Given the description of an element on the screen output the (x, y) to click on. 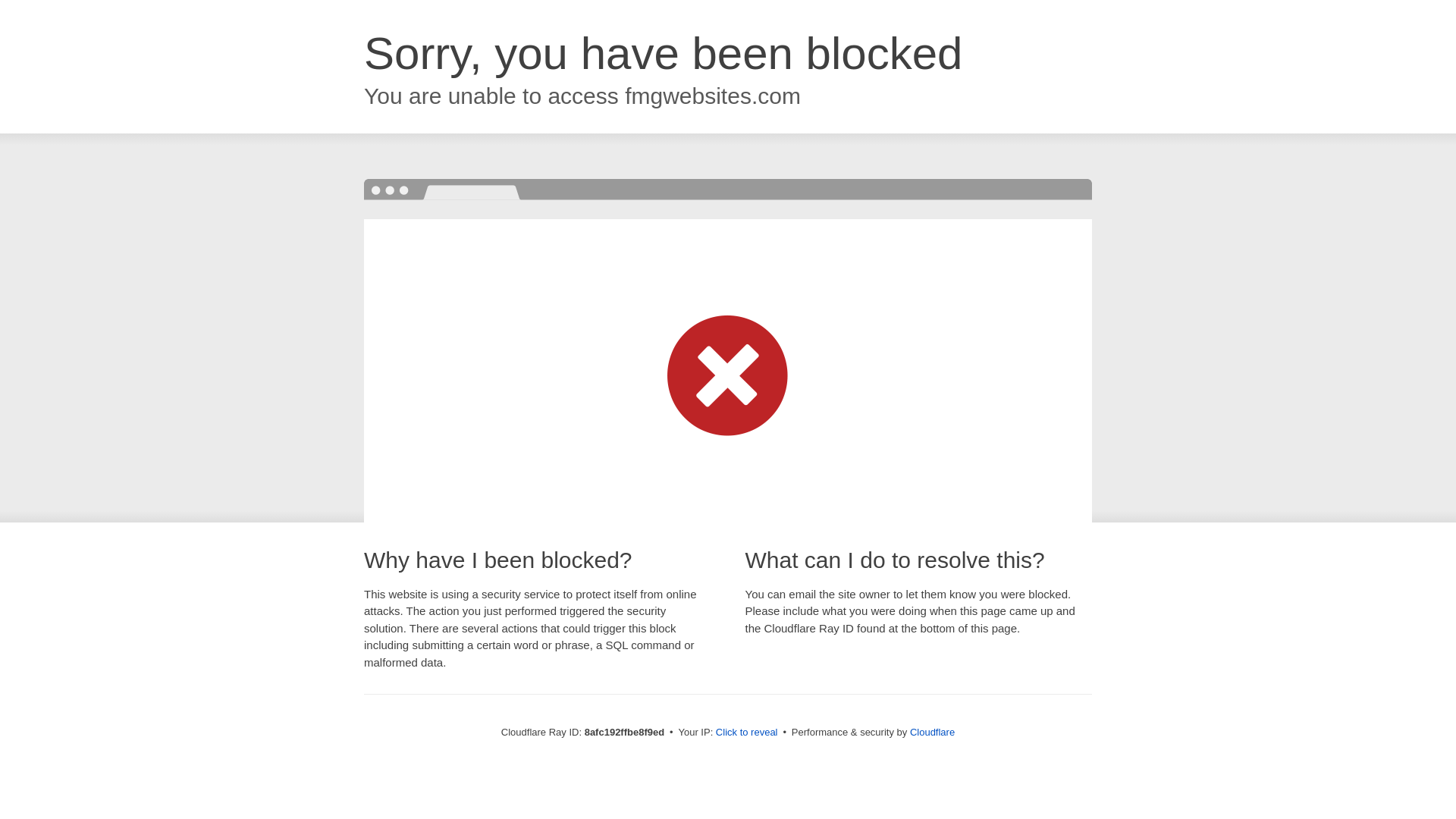
Click to reveal (746, 732)
Cloudflare (932, 731)
